Given the description of an element on the screen output the (x, y) to click on. 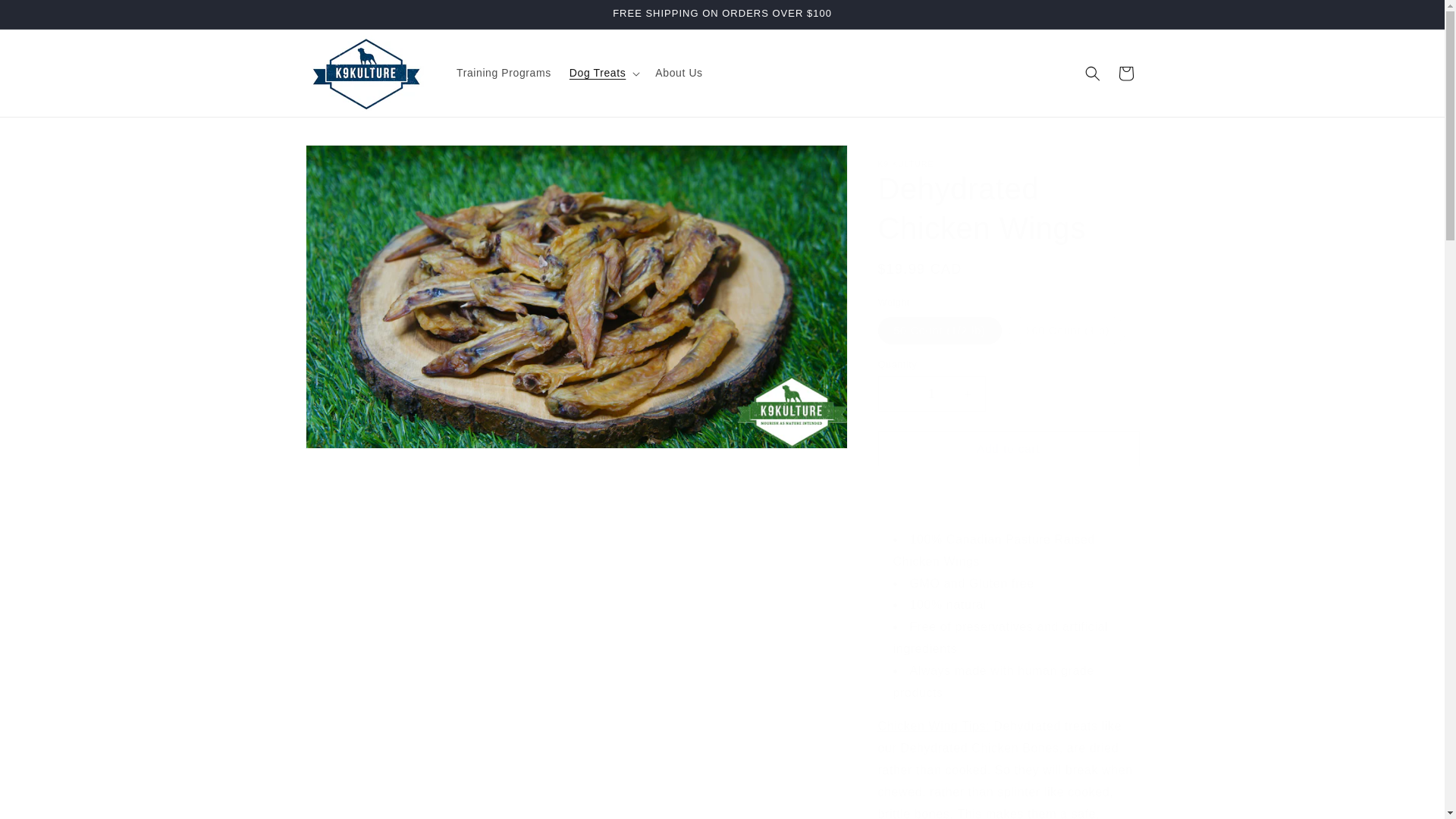
1 (931, 393)
Skip to content (45, 17)
Training Programs (503, 72)
Cart (1124, 72)
Skip to product information (350, 161)
Decrease quantity for Dehydrated Chicken Wings (894, 393)
About Us (678, 72)
Add to cart (1008, 448)
Increase quantity for Dehydrated Chicken Wings (967, 393)
